Given the description of an element on the screen output the (x, y) to click on. 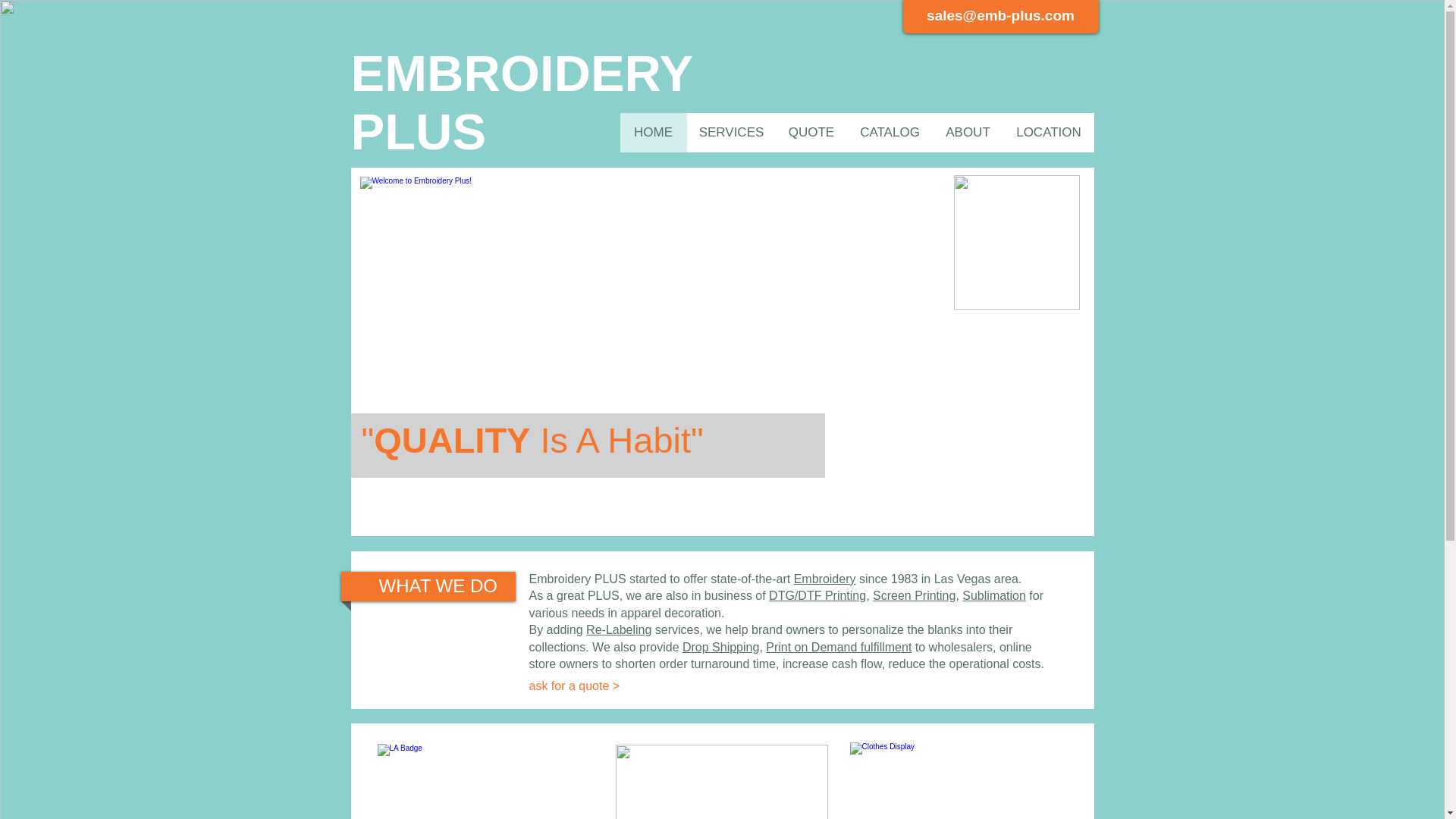
Re-Labeling (618, 629)
CATALOG (888, 132)
Screen Printing (913, 594)
SERVICES (731, 132)
QUOTE (809, 132)
LOCATION (1048, 132)
Embroidery (824, 578)
Print on Demand fulfillment (838, 646)
EMBROIDERY (521, 73)
ABOUT (968, 132)
